Given the description of an element on the screen output the (x, y) to click on. 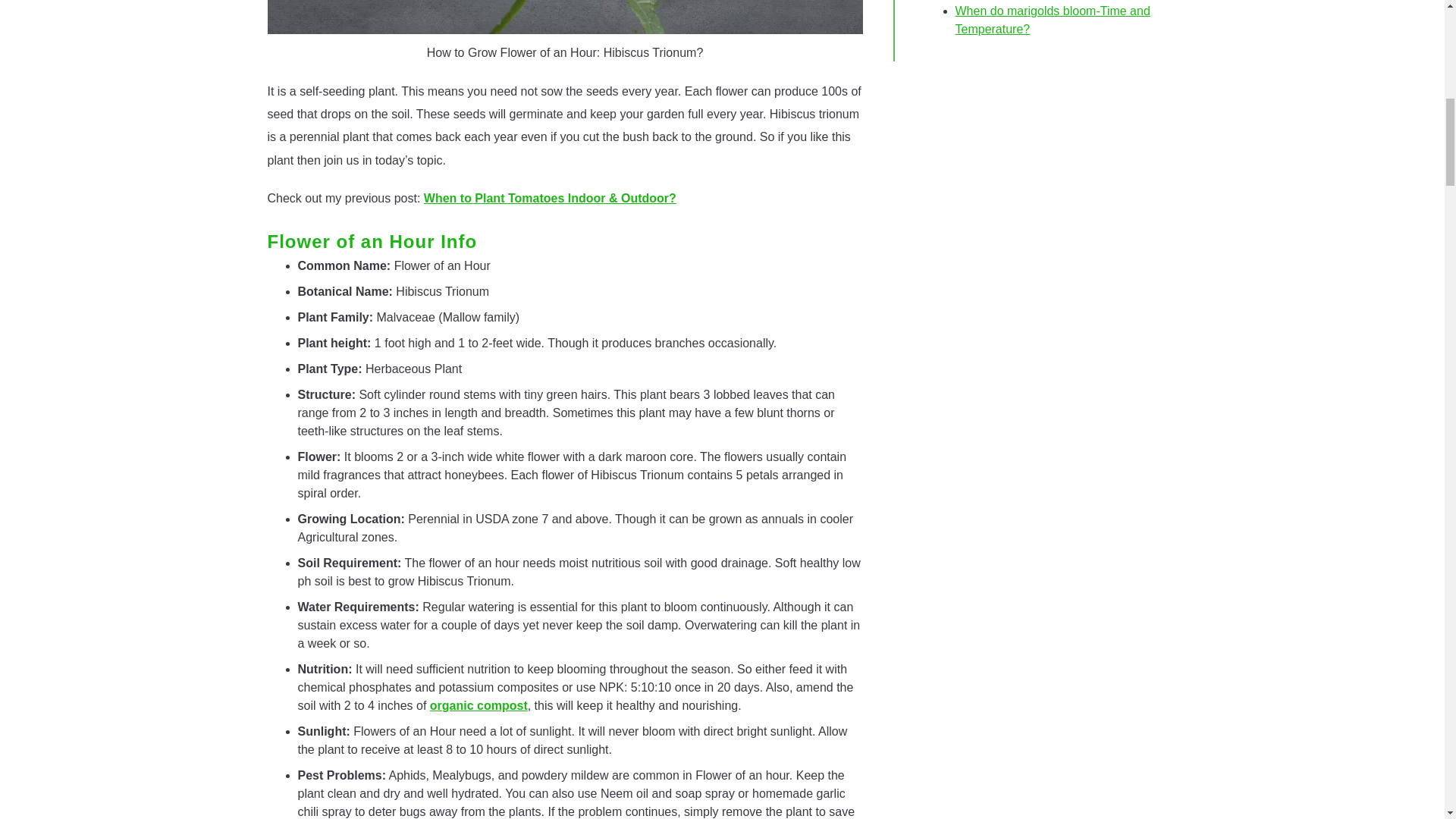
organic compost (478, 705)
